Given the description of an element on the screen output the (x, y) to click on. 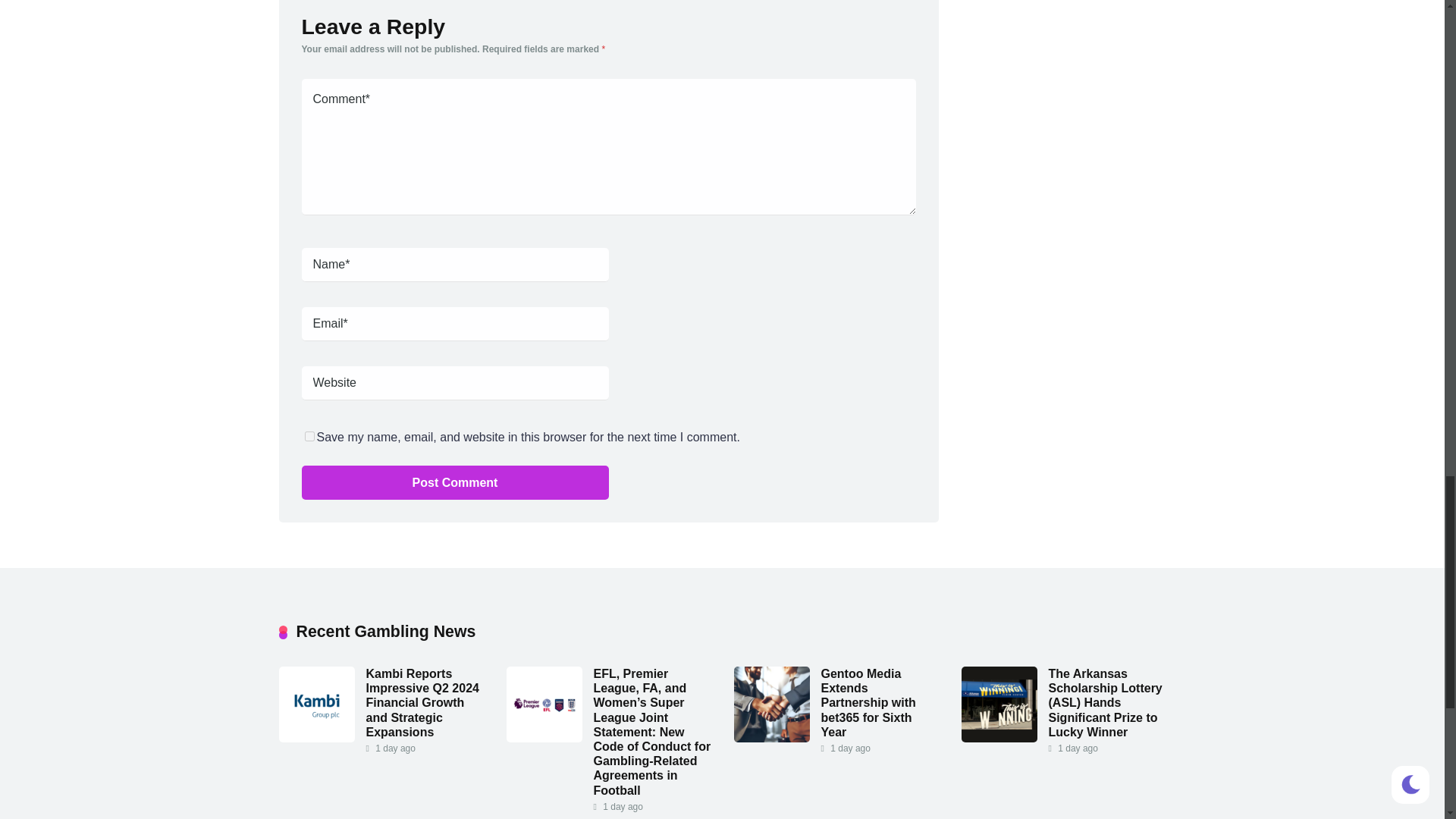
Post Comment (454, 482)
yes (309, 436)
Post Comment (454, 482)
